Given the description of an element on the screen output the (x, y) to click on. 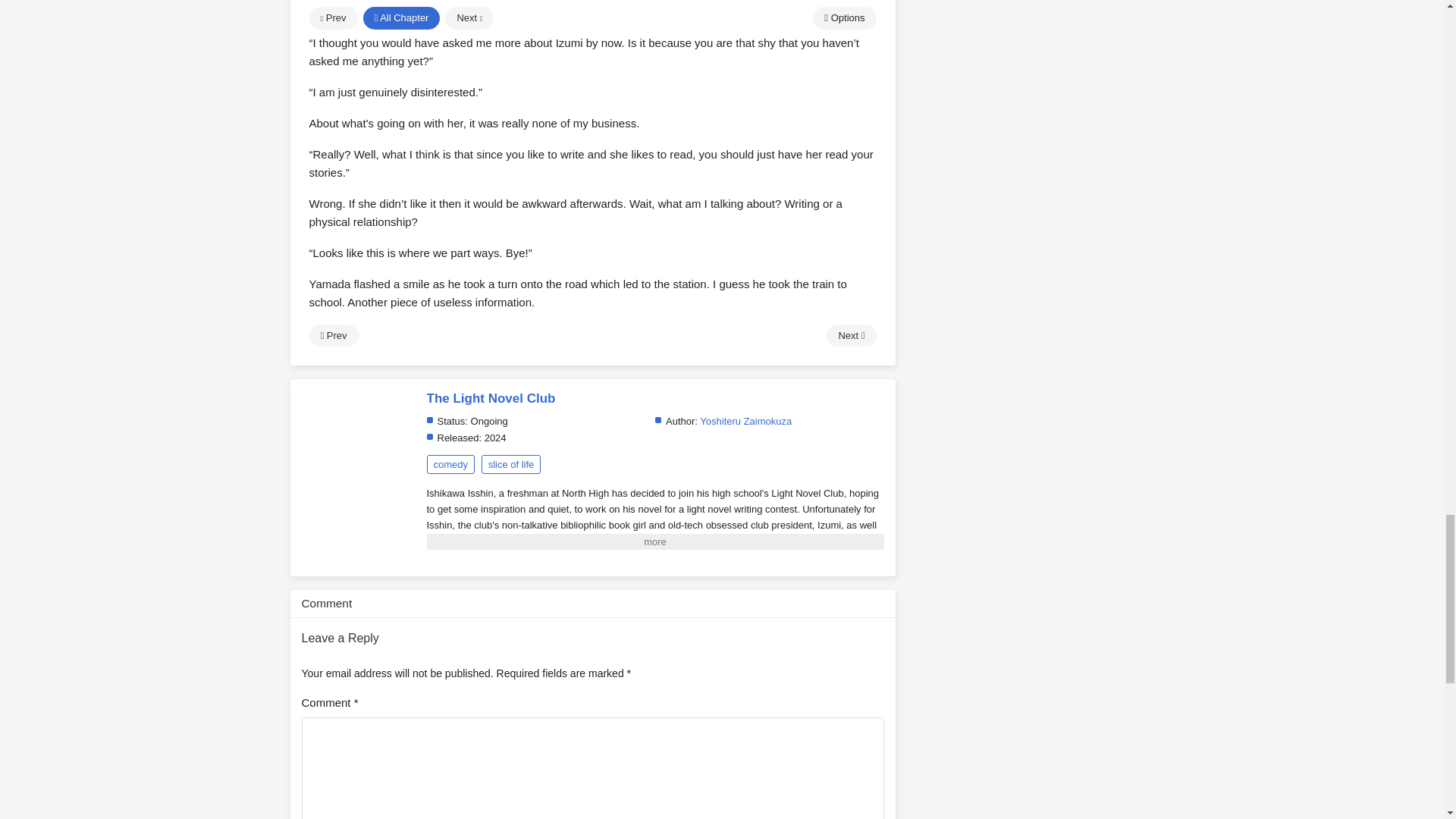
Prev (333, 335)
Yoshiteru Zaimokuza (746, 420)
Next (851, 335)
slice of life (511, 464)
comedy (450, 464)
